Given the description of an element on the screen output the (x, y) to click on. 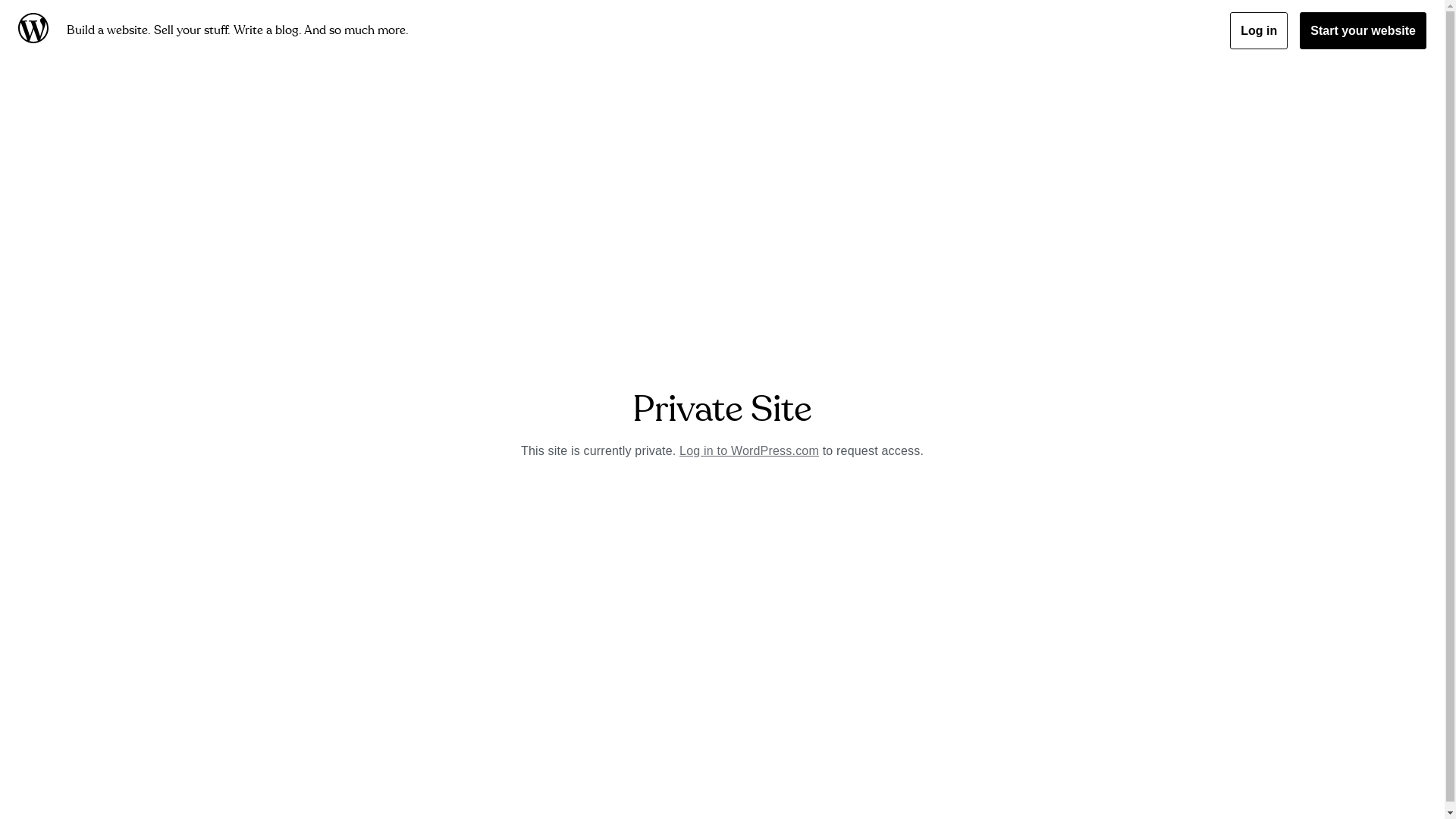
WordPress.com Element type: text (36, 30)
Log in Element type: text (1258, 30)
Start your website Element type: text (1362, 30)
Log in to WordPress.com Element type: text (749, 450)
